Given the description of an element on the screen output the (x, y) to click on. 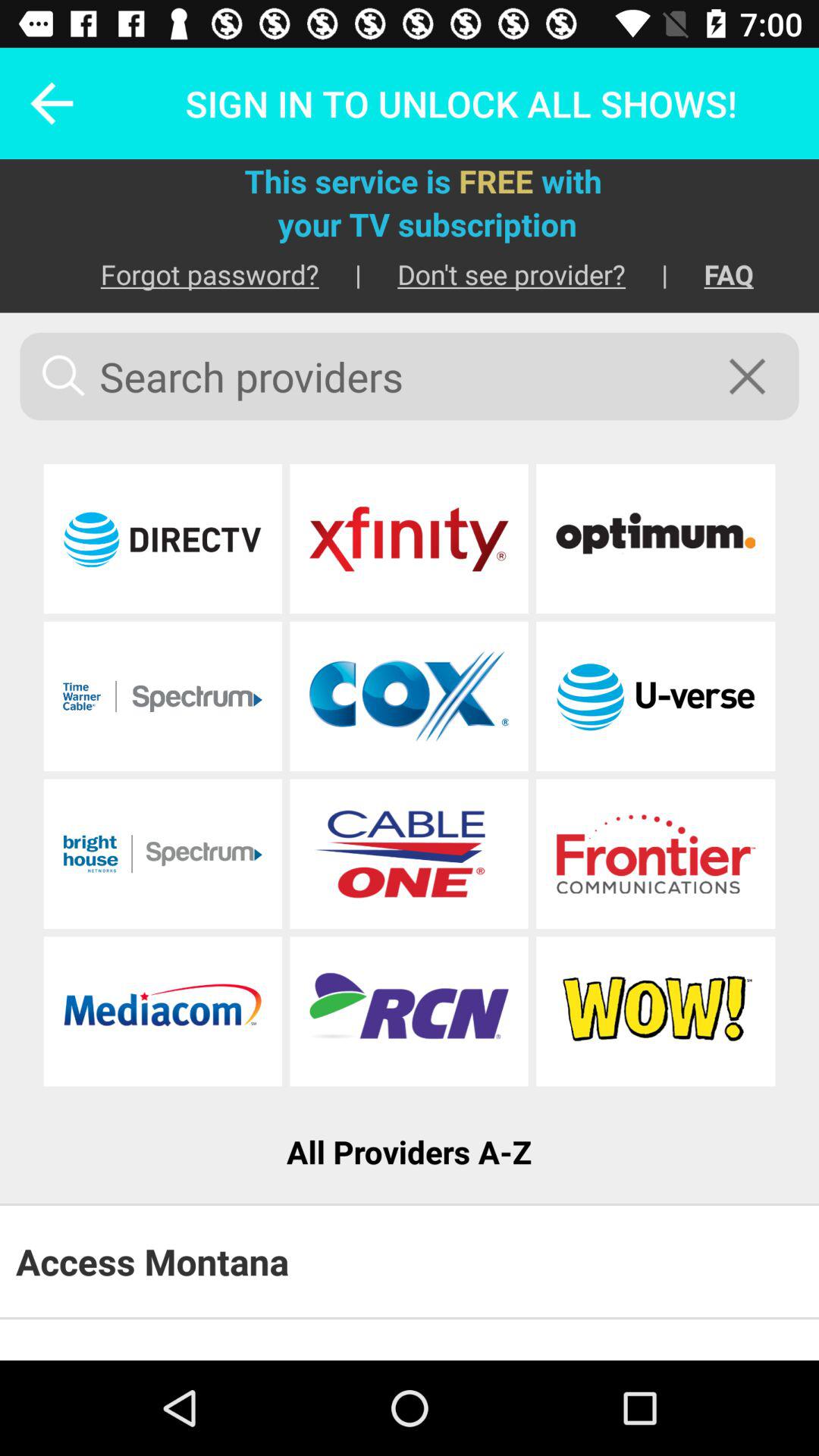
jump to faq (710, 273)
